Given the description of an element on the screen output the (x, y) to click on. 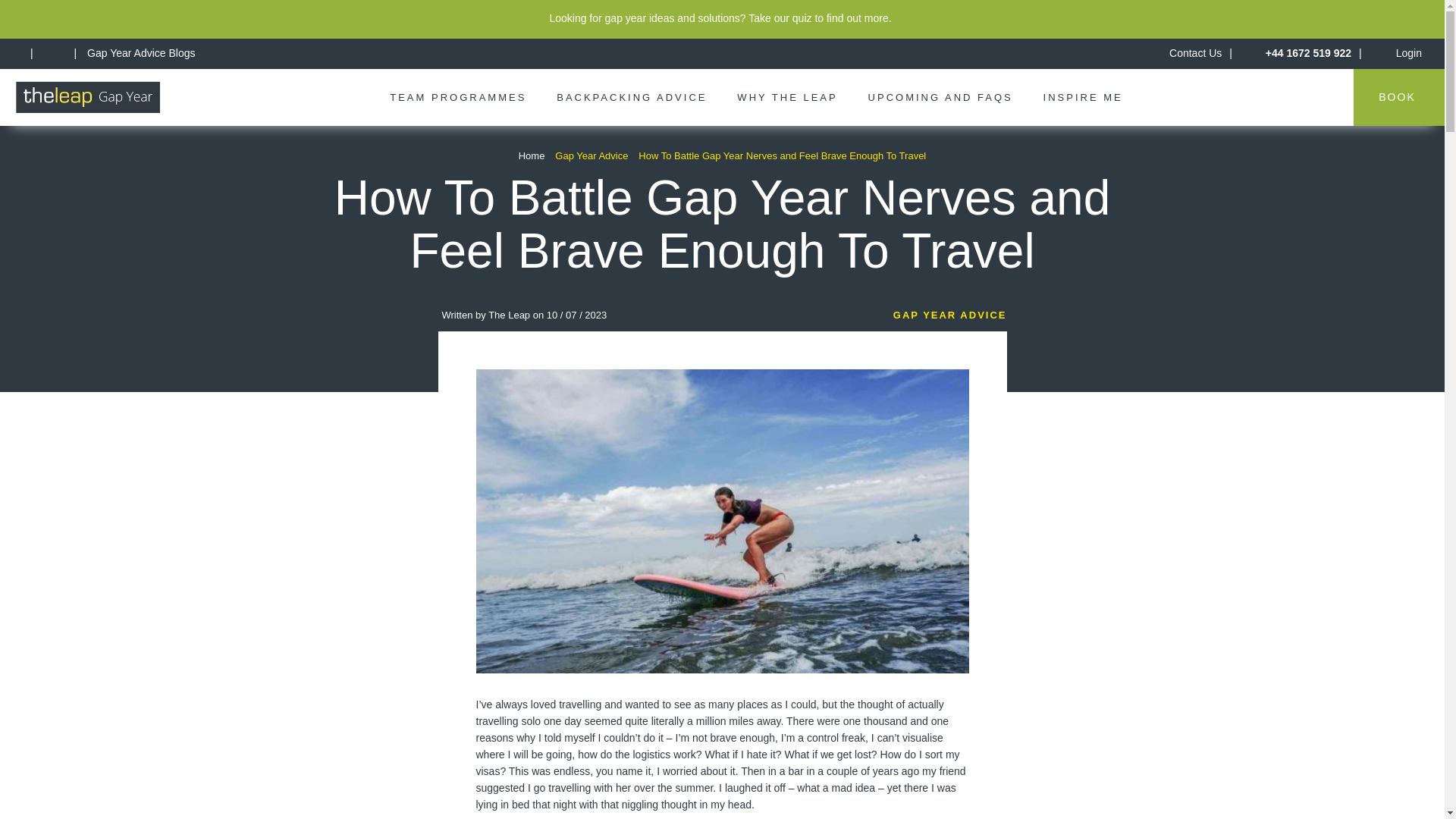
Contact Us (1195, 52)
Visit The Leap homepage (18, 52)
TEAM PROGRAMMES (457, 97)
Explore our Gap Year Programmes (457, 97)
Gap Year Advice Blogs (141, 52)
Contact Us (1195, 52)
